Given the description of an element on the screen output the (x, y) to click on. 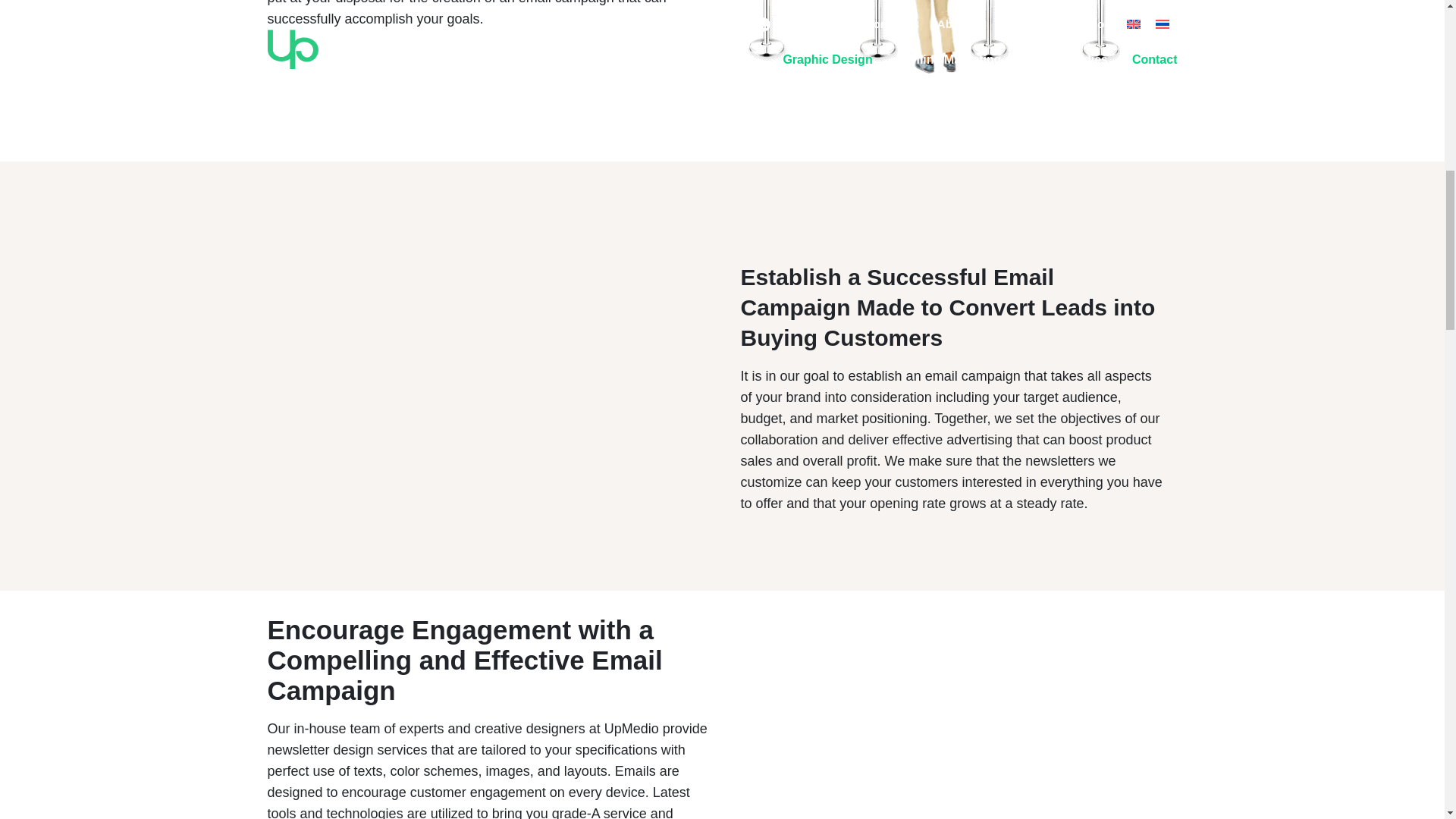
Newsletter Design 8 (934, 36)
